Given the description of an element on the screen output the (x, y) to click on. 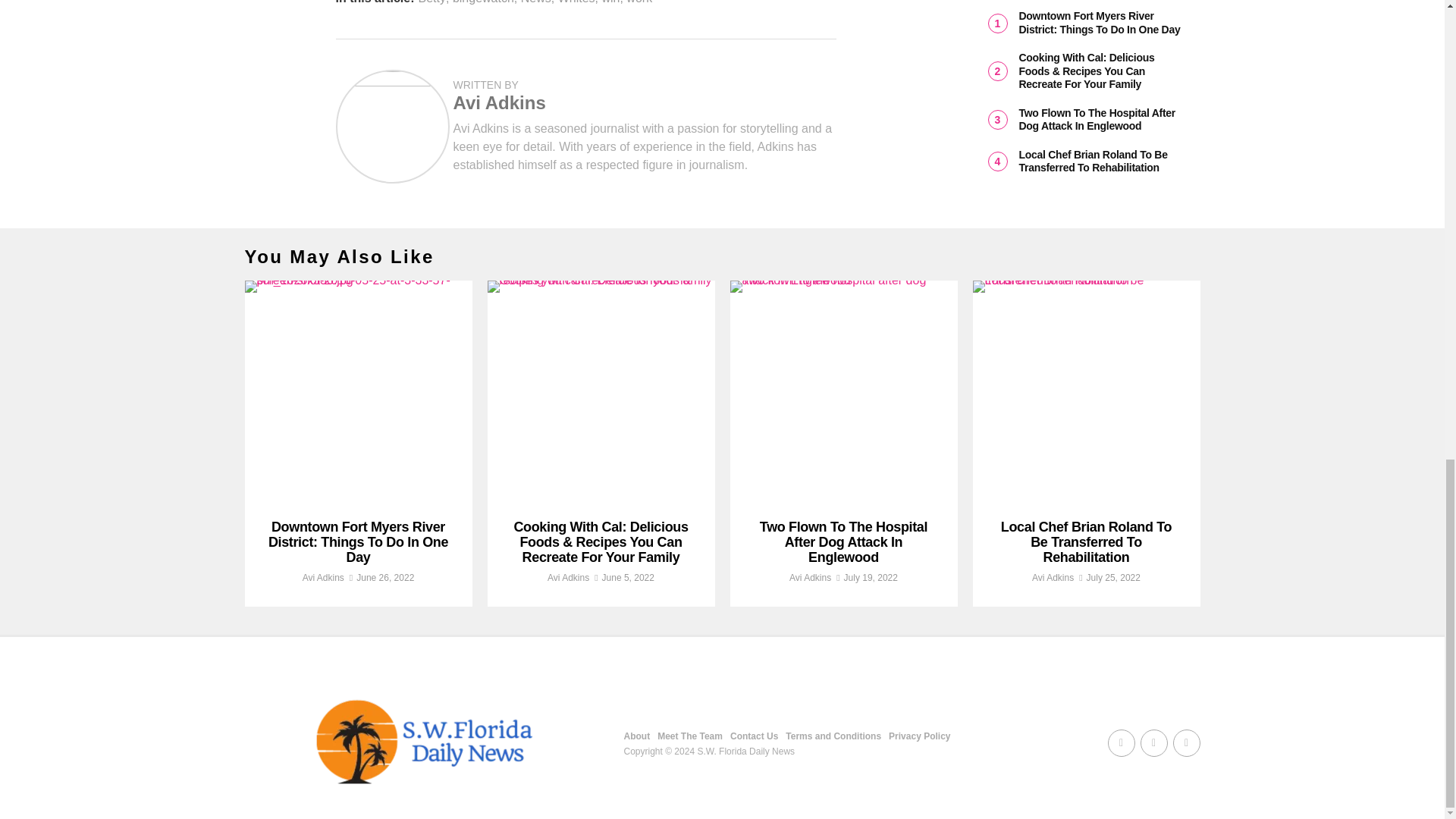
Posts by Avi Adkins (499, 102)
Posts by Avi Adkins (322, 577)
Posts by Avi Adkins (568, 577)
